Given the description of an element on the screen output the (x, y) to click on. 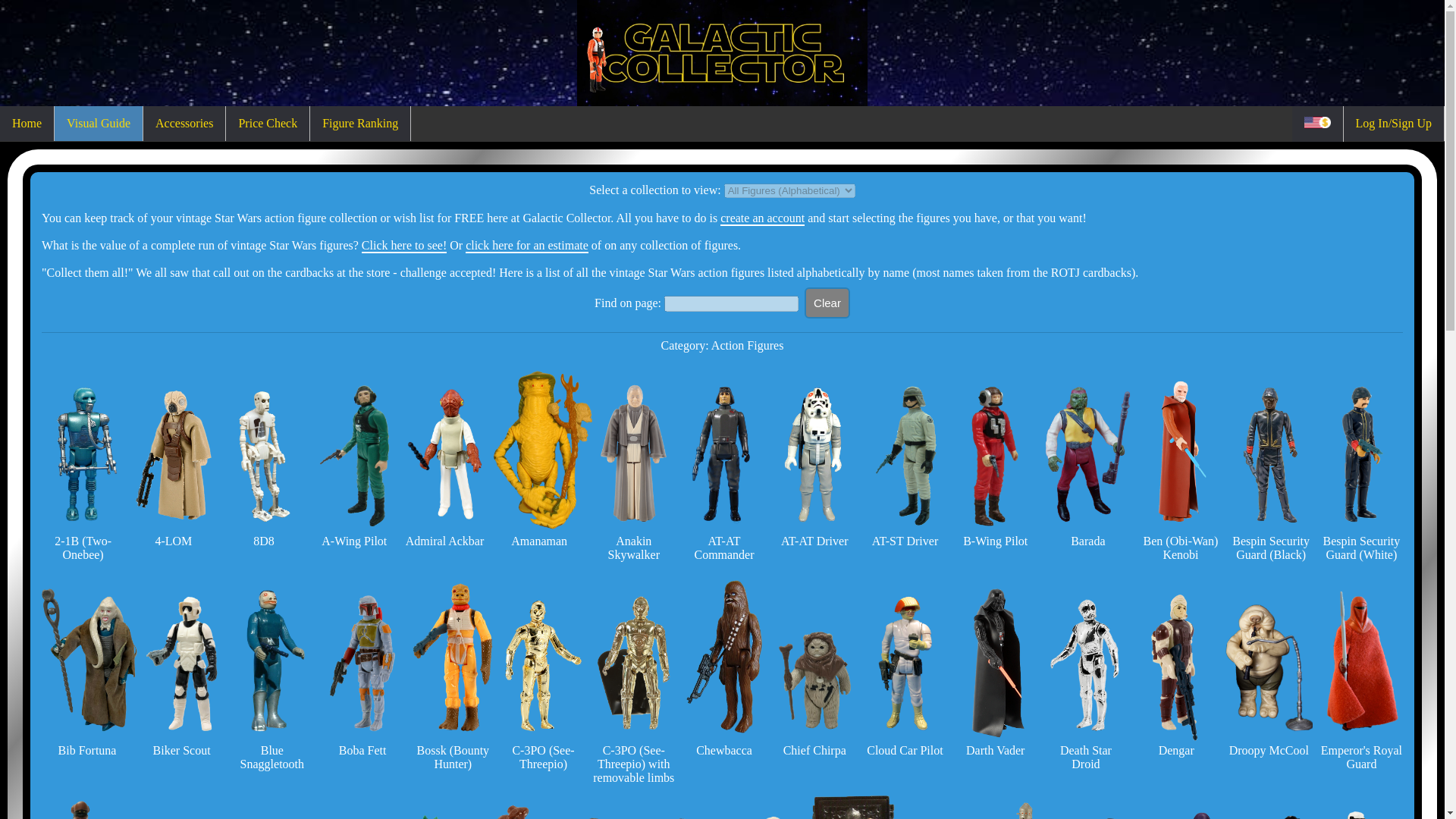
Visual Guide (98, 123)
Clear (827, 302)
Figure Ranking (360, 123)
click here for an estimate (526, 246)
Click here to see! (403, 246)
Accessories (183, 123)
Price Check (266, 123)
create an account (762, 218)
Home (26, 123)
